Given the description of an element on the screen output the (x, y) to click on. 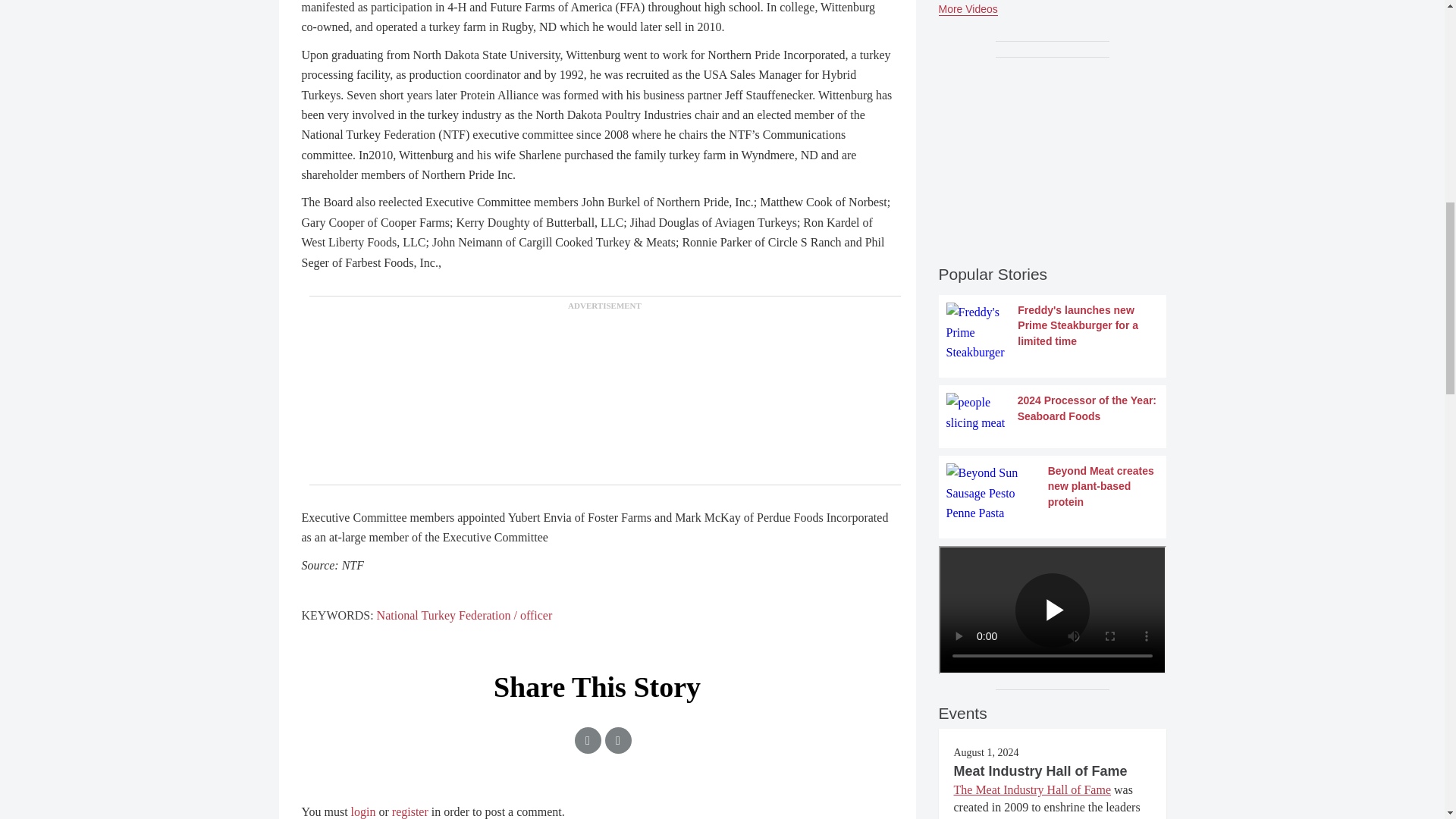
Meat Industry Hall of Fame (1039, 770)
2024 Processor of the Year: Seaboard Foods (1052, 413)
Freddy's launches new Prime Steakburger for a limited time (1052, 332)
Beyond Meat creates new plant-based protein (1052, 493)
